Given the description of an element on the screen output the (x, y) to click on. 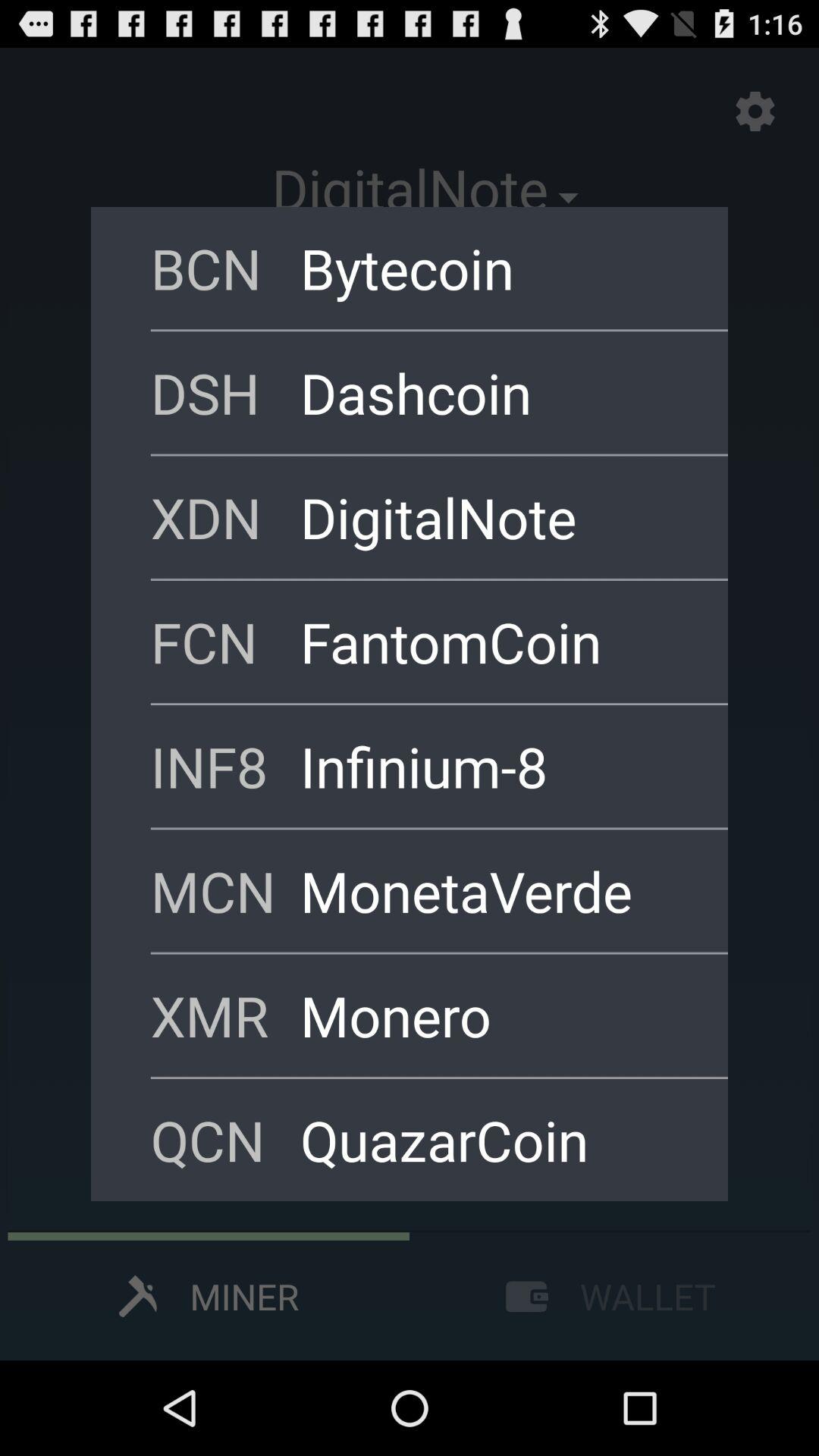
open digitalnote app (494, 517)
